Given the description of an element on the screen output the (x, y) to click on. 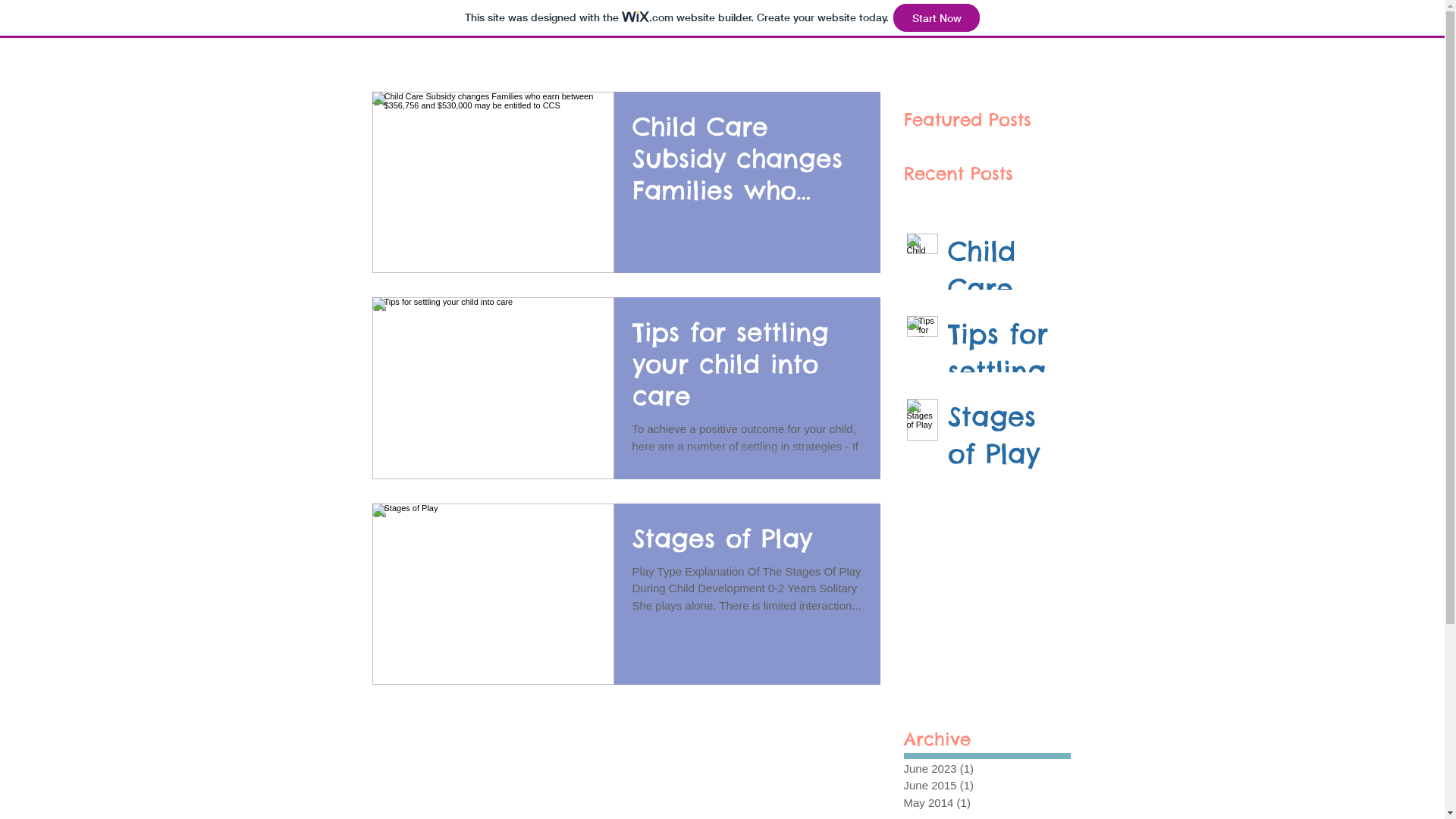
June 2023 (1) Element type: text (983, 769)
June 2015 (1) Element type: text (983, 785)
Tips for settling your child into care Element type: text (747, 367)
Stages of Play Element type: text (1004, 438)
Stages of Play Element type: text (747, 542)
Tips for settling your child into care Element type: text (1004, 374)
May 2014 (1) Element type: text (983, 803)
